Given the description of an element on the screen output the (x, y) to click on. 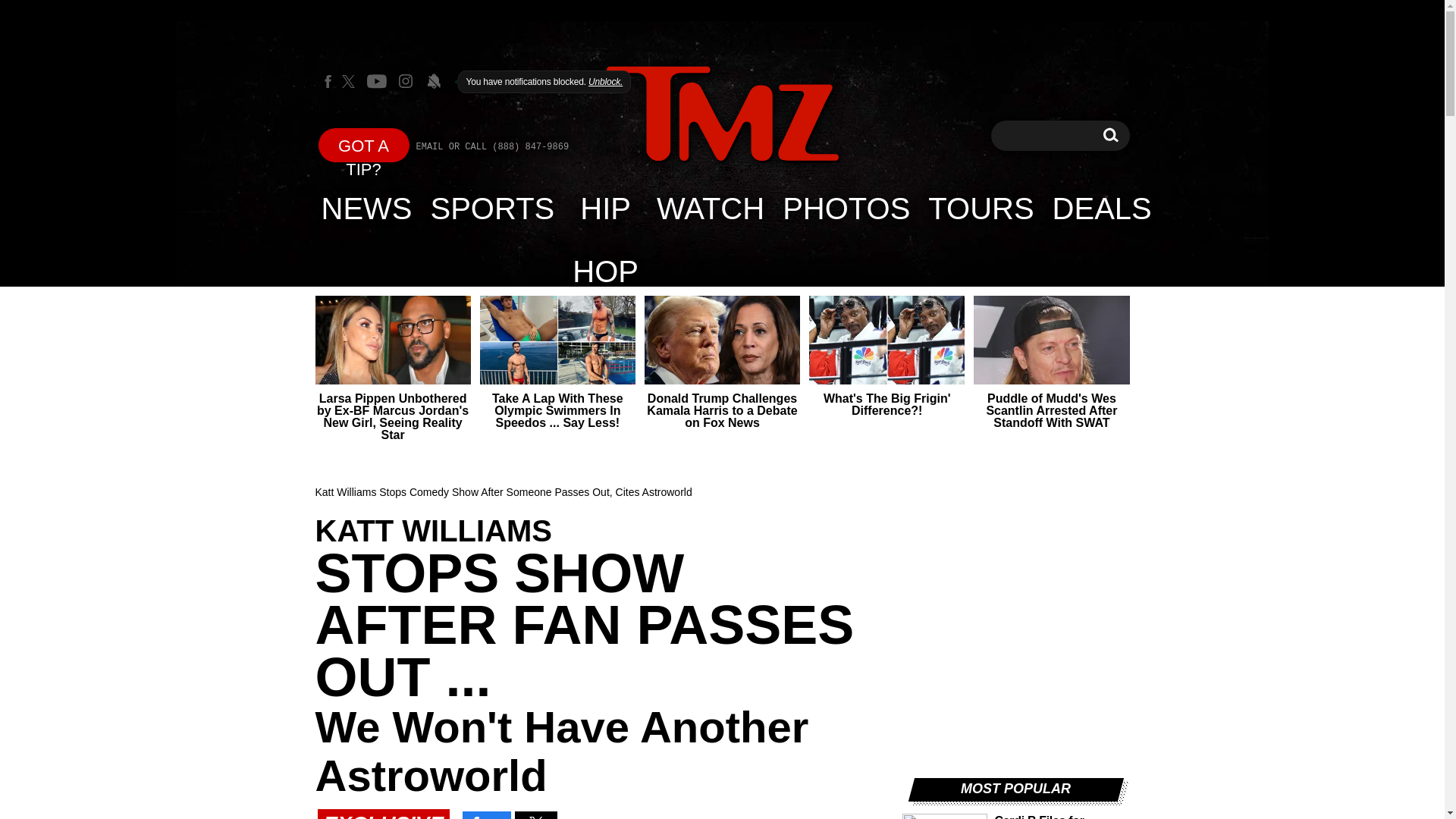
TMZ (722, 113)
PHOTOS (845, 207)
TMZ (722, 115)
Search (1110, 134)
DEALS (1101, 207)
WATCH (710, 207)
GOT A TIP? (363, 144)
HIP HOP (605, 207)
TOURS (980, 207)
SPORTS (493, 207)
NEWS (1110, 135)
